Given the description of an element on the screen output the (x, y) to click on. 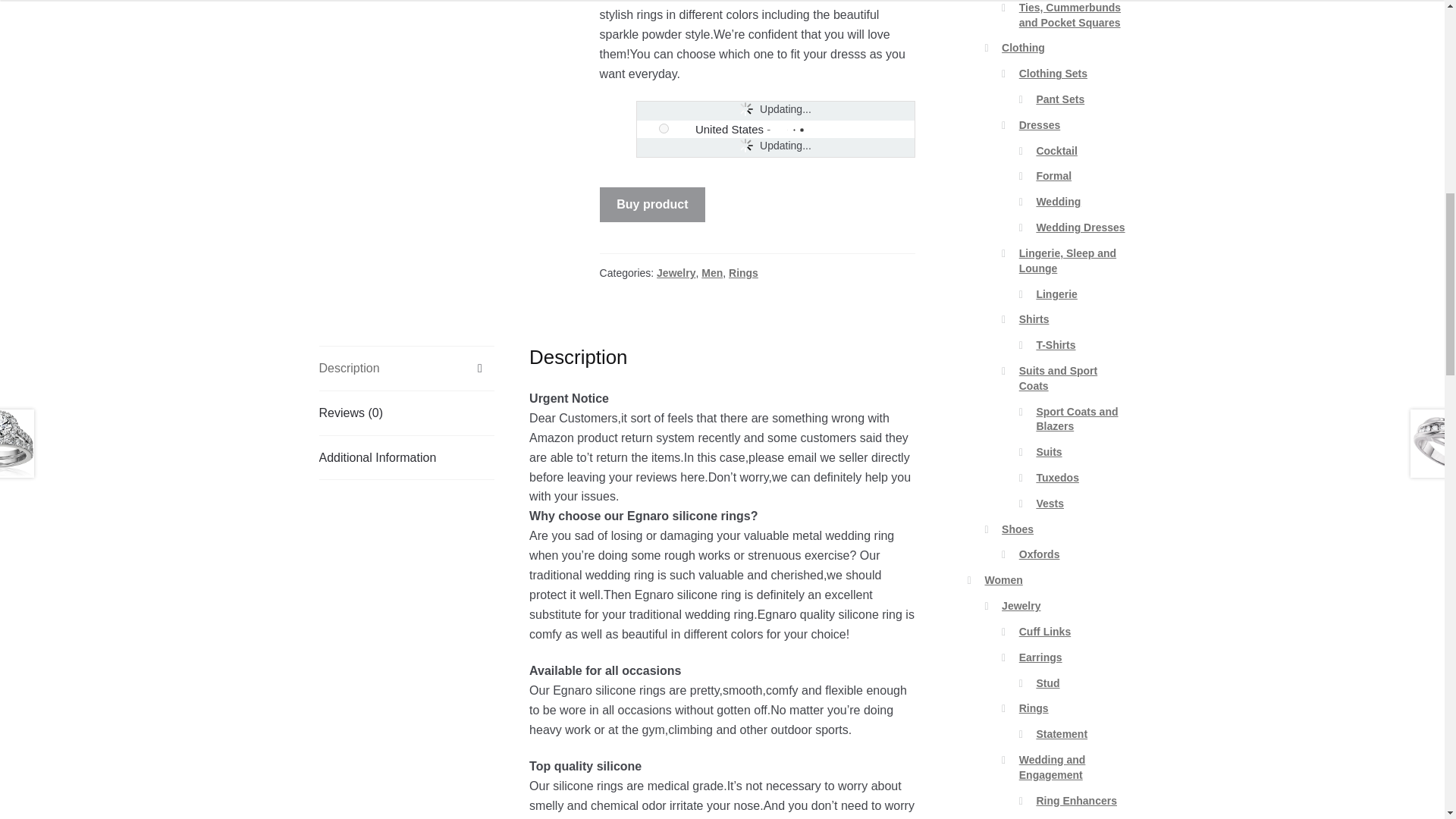
on (663, 128)
United States (728, 128)
Rings (743, 272)
Men (711, 272)
Buy product (652, 204)
Jewelry (675, 272)
Additional Information (406, 457)
Description (406, 368)
United States (683, 128)
